Given the description of an element on the screen output the (x, y) to click on. 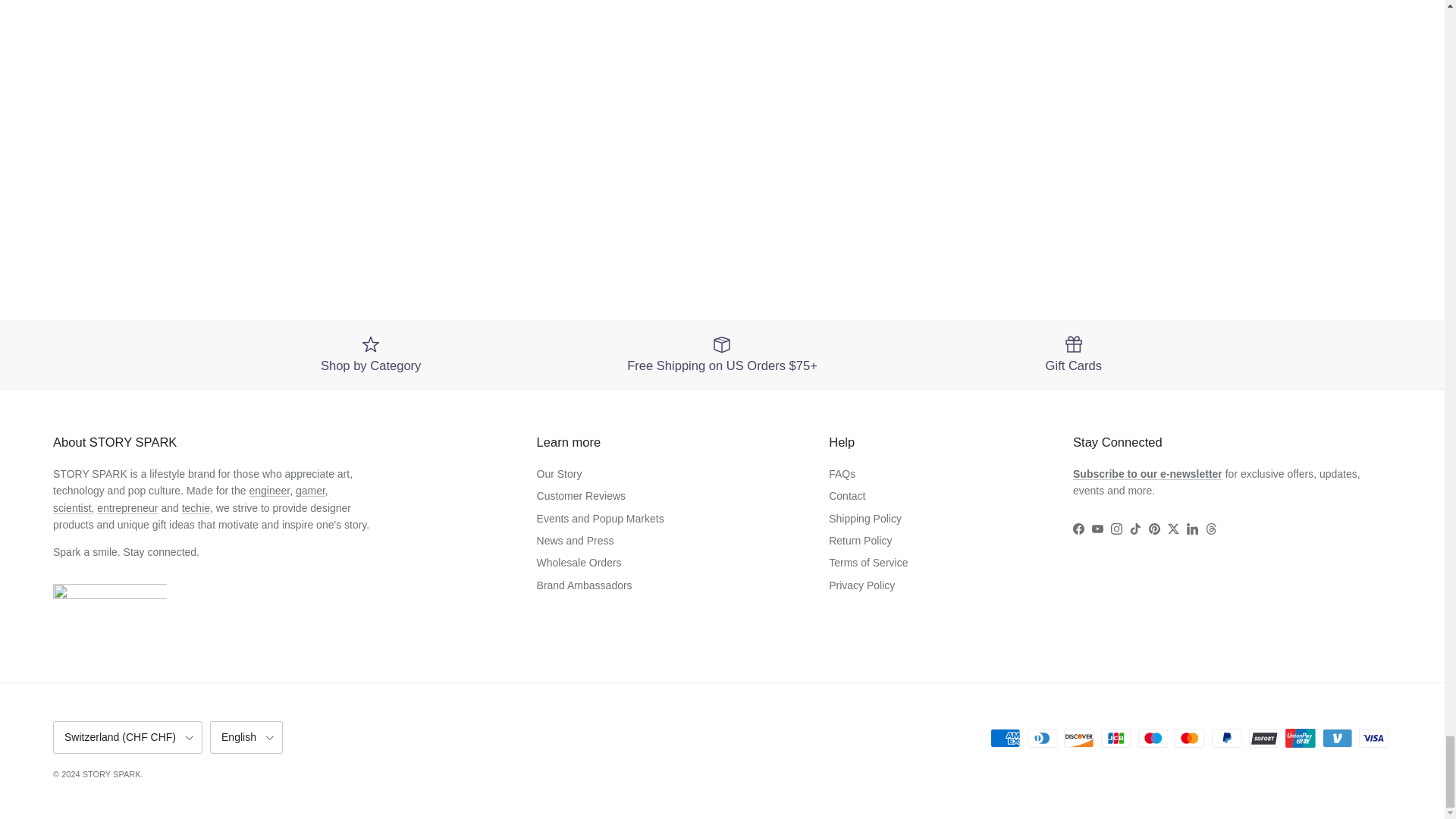
American Express (1005, 737)
JCB (1115, 737)
Maestro (1152, 737)
Diners Club (1042, 737)
Discover (1078, 737)
